Given the description of an element on the screen output the (x, y) to click on. 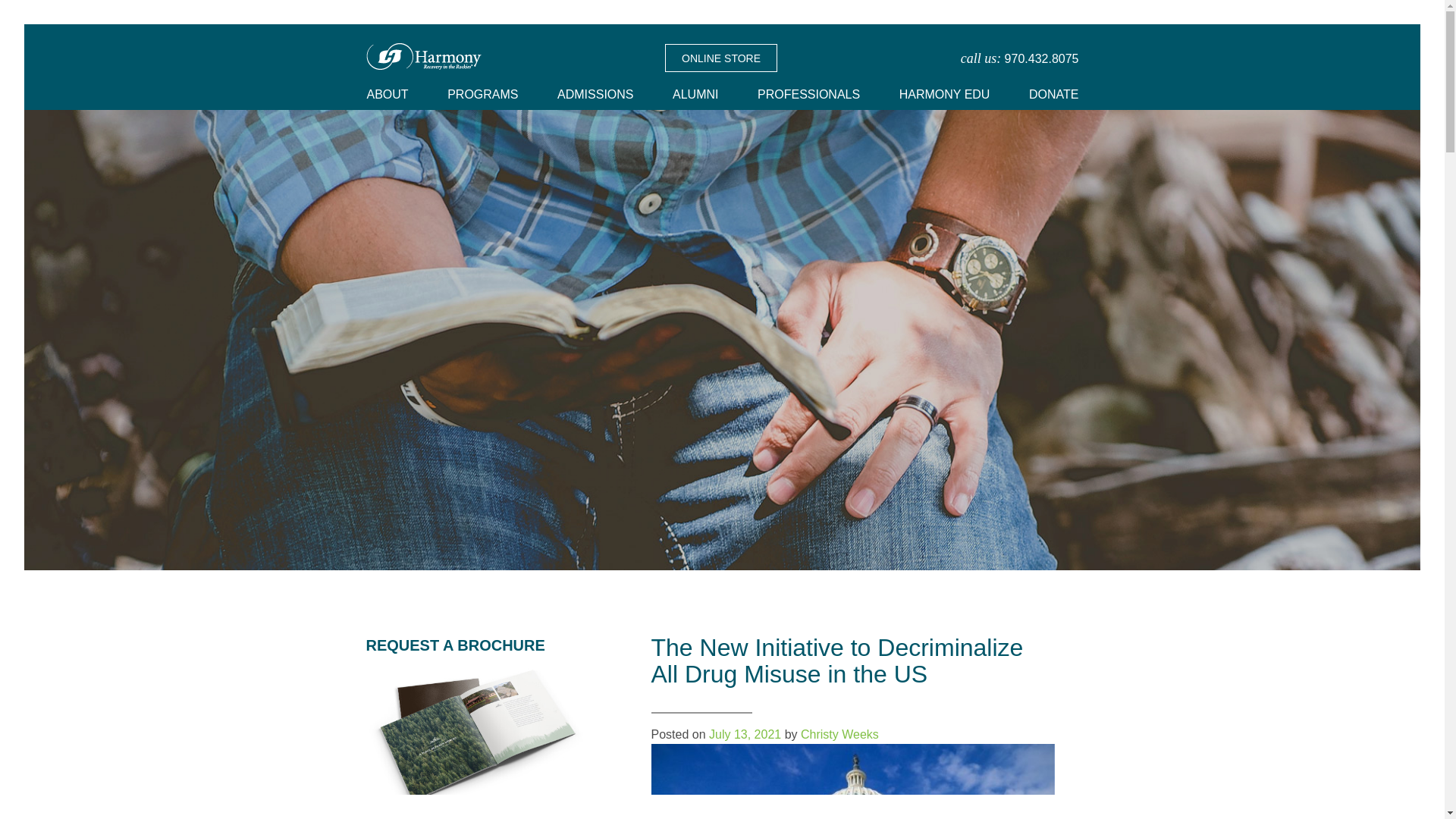
PROGRAMS (482, 94)
ABOUT (393, 94)
970.432.8075 (1041, 57)
ALUMNI (695, 94)
ADMISSIONS (594, 94)
ONLINE STORE (721, 58)
